Given the description of an element on the screen output the (x, y) to click on. 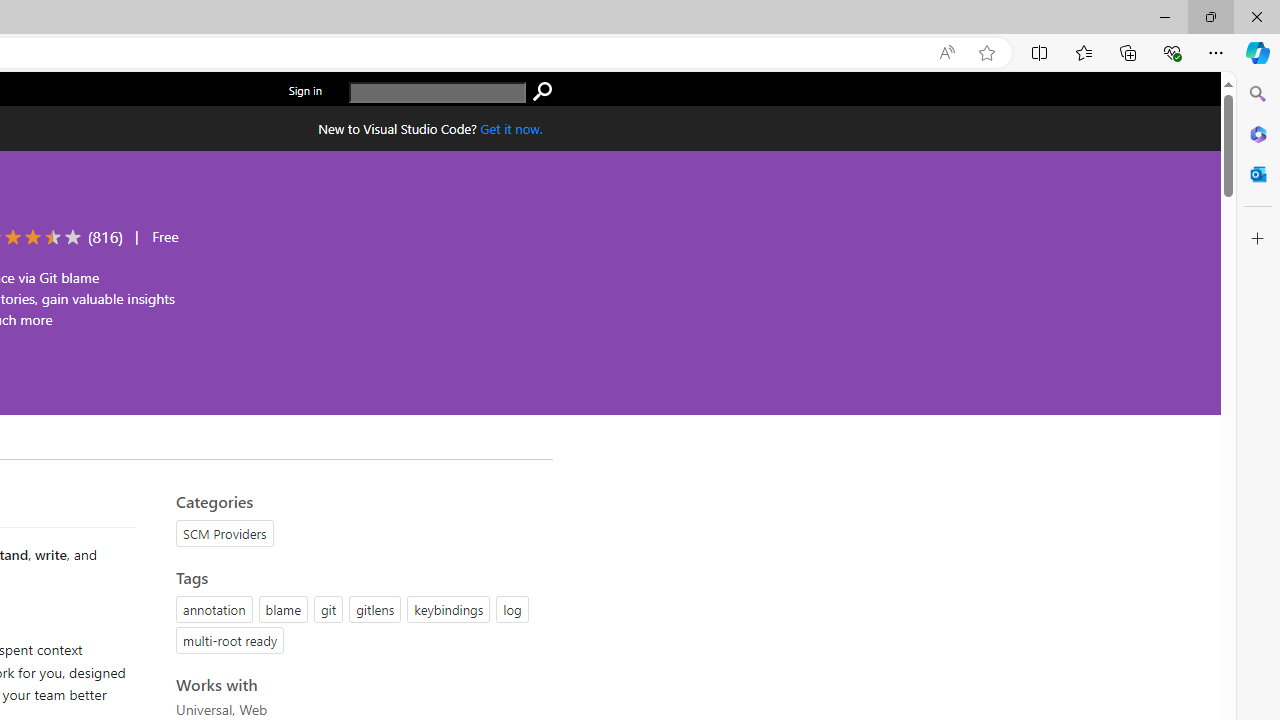
Get Visual Studio Code Now (511, 128)
search (542, 92)
